Given the description of an element on the screen output the (x, y) to click on. 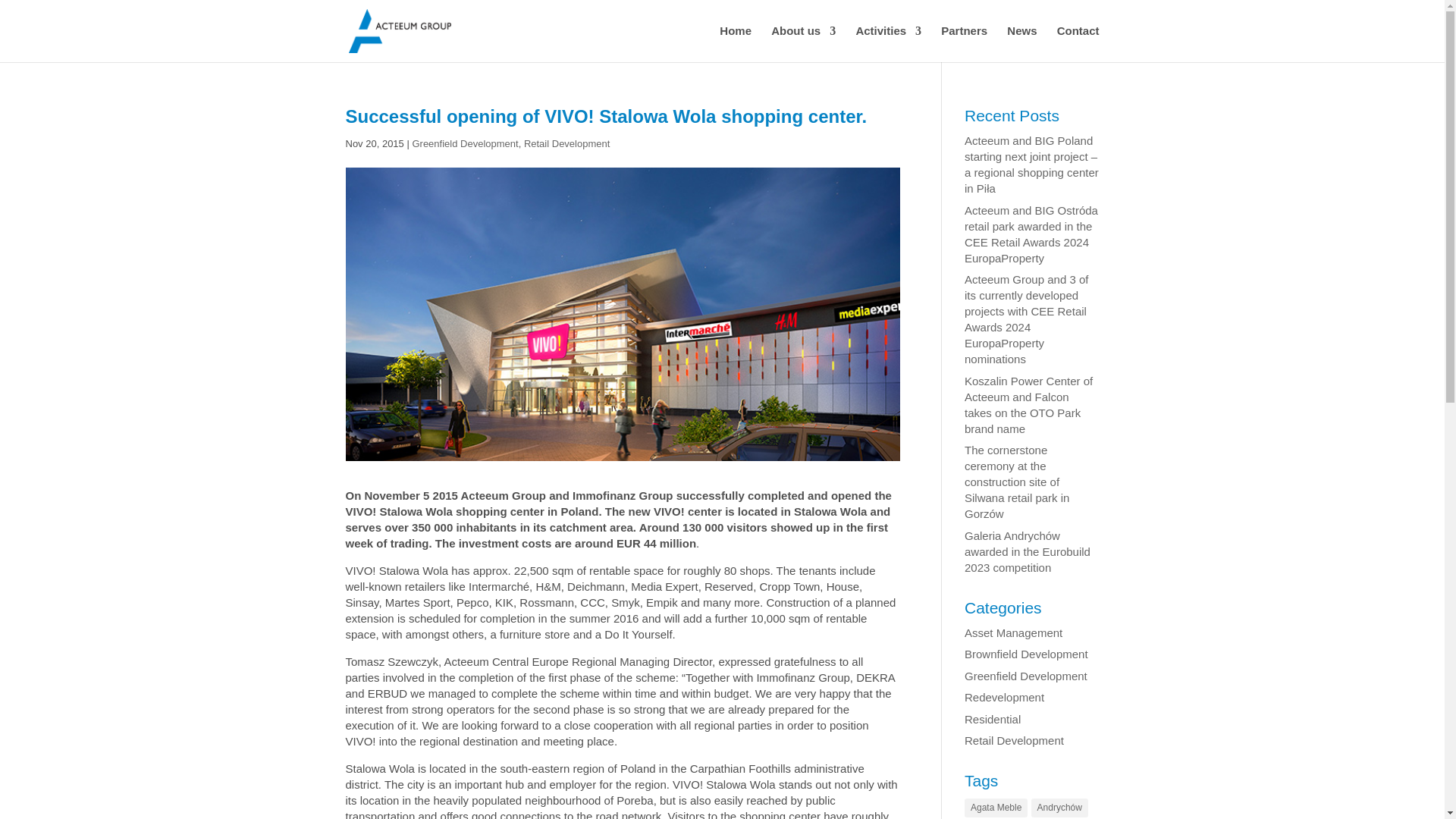
Greenfield Development (465, 143)
About us (803, 43)
Contact (1078, 43)
Activities (888, 43)
Retail Development (567, 143)
Partners (963, 43)
